Given the description of an element on the screen output the (x, y) to click on. 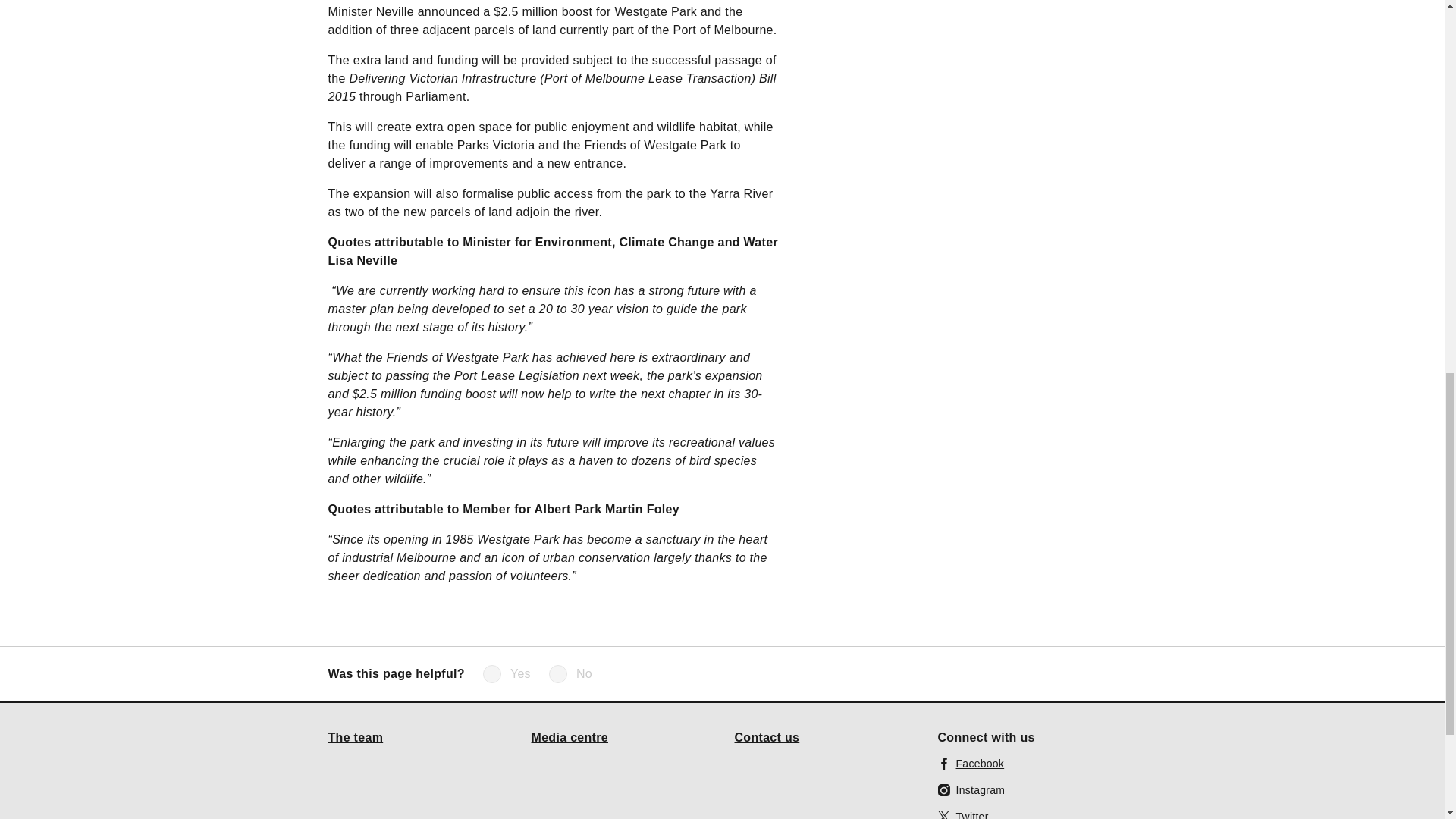
Facebook (970, 762)
Media centre (569, 736)
Twitter (962, 813)
Contact us (766, 736)
The team (354, 736)
Instagram (970, 789)
